Given the description of an element on the screen output the (x, y) to click on. 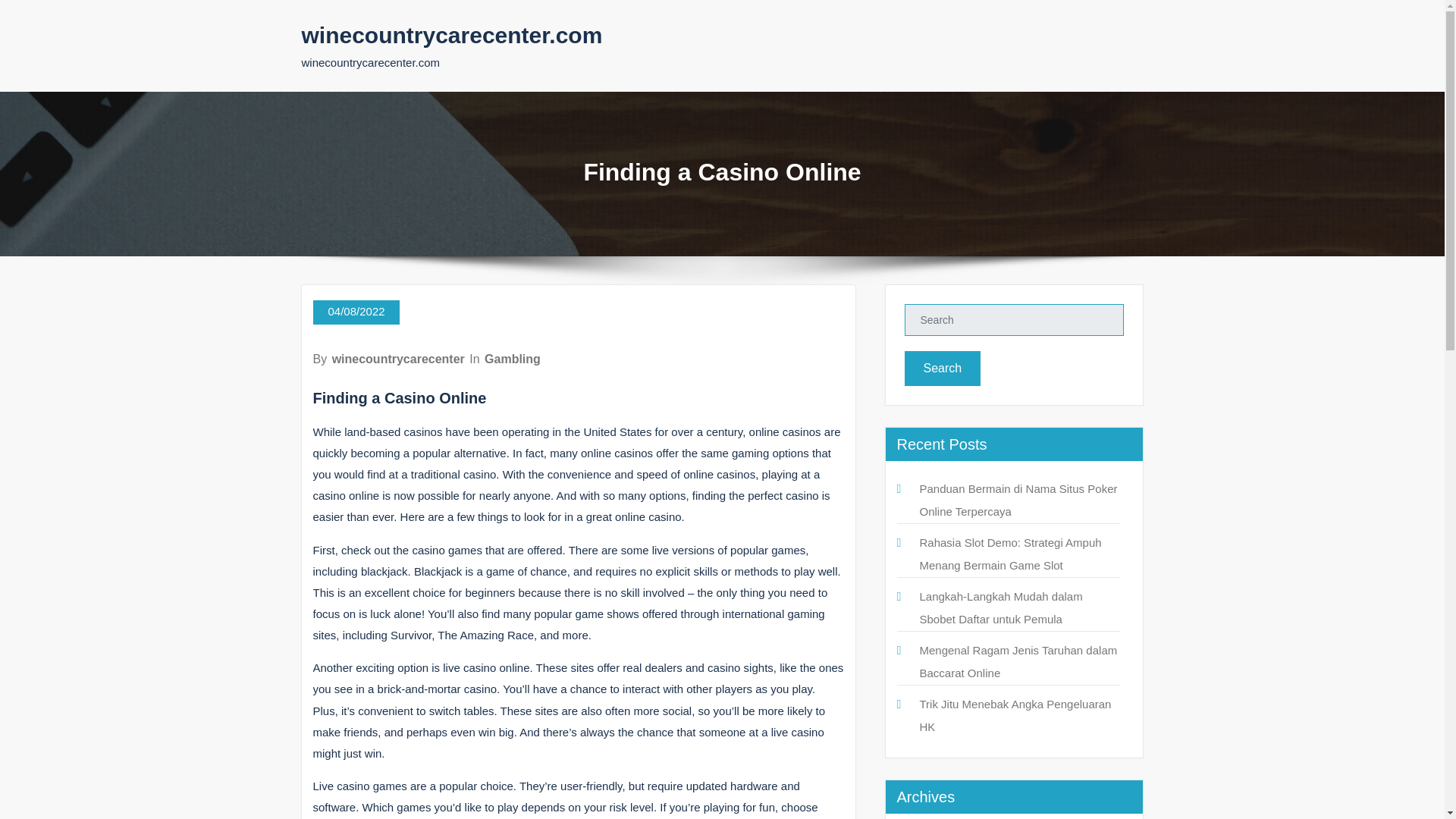
Langkah-Langkah Mudah dalam Sbobet Daftar untuk Pemula (999, 607)
Rahasia Slot Demo: Strategi Ampuh Menang Bermain Game Slot (1009, 553)
Search (941, 368)
Gambling (512, 358)
winecountrycarecenter.com (451, 34)
Mengenal Ragam Jenis Taruhan dalam Baccarat Online (1017, 661)
Panduan Bermain di Nama Situs Poker Online Terpercaya (1017, 499)
winecountrycarecenter (397, 358)
Trik Jitu Menebak Angka Pengeluaran HK (1014, 715)
